Given the description of an element on the screen output the (x, y) to click on. 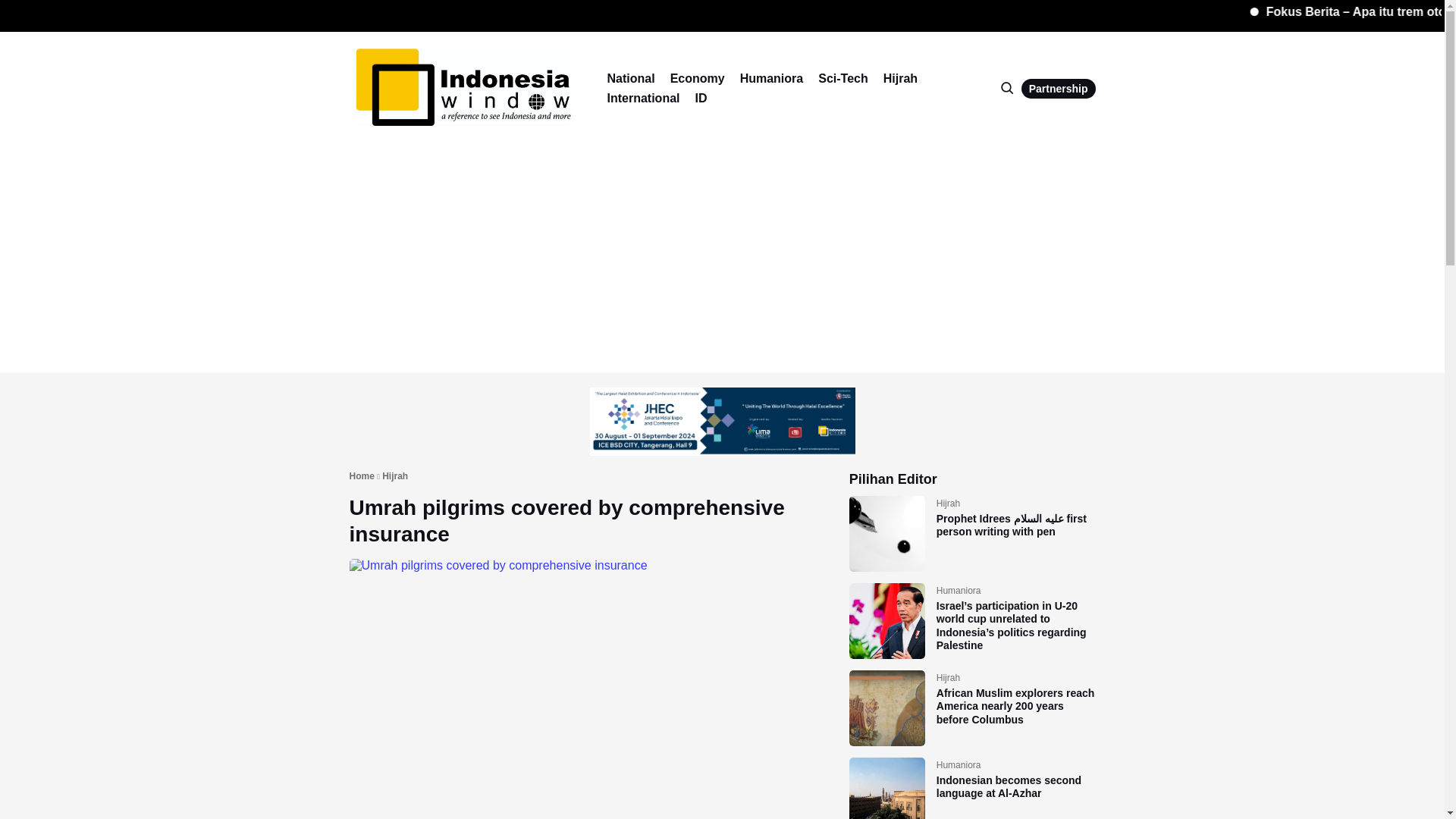
Umrah pilgrims covered by comprehensive insurance (566, 521)
Sci-Tech (842, 78)
National (630, 78)
Humaniora (771, 78)
Economy (697, 78)
Home (361, 476)
Hijrah (900, 78)
International (643, 98)
Hijrah (394, 476)
